Given the description of an element on the screen output the (x, y) to click on. 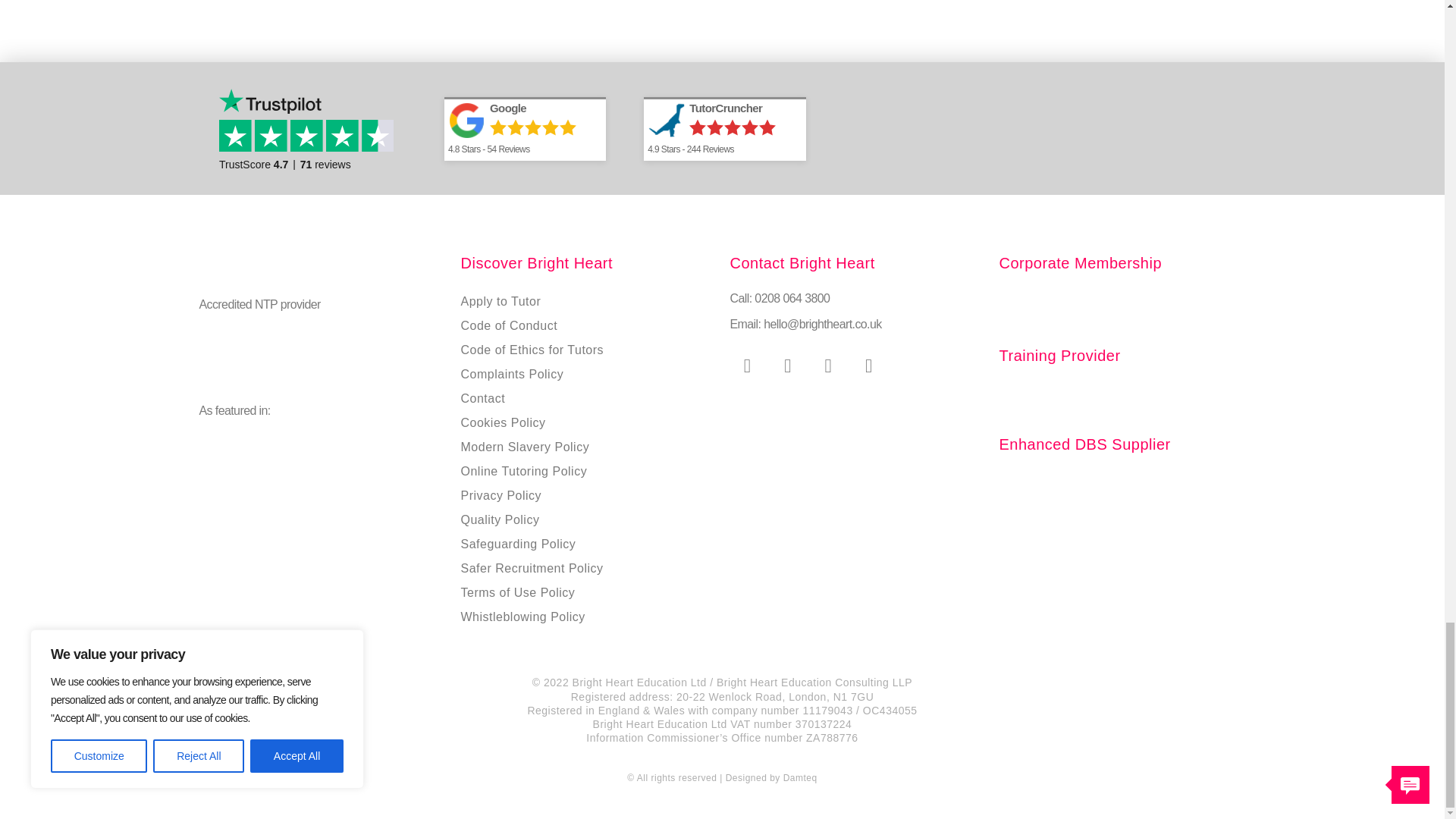
Customer reviews powered by Trustpilot (312, 128)
